Given the description of an element on the screen output the (x, y) to click on. 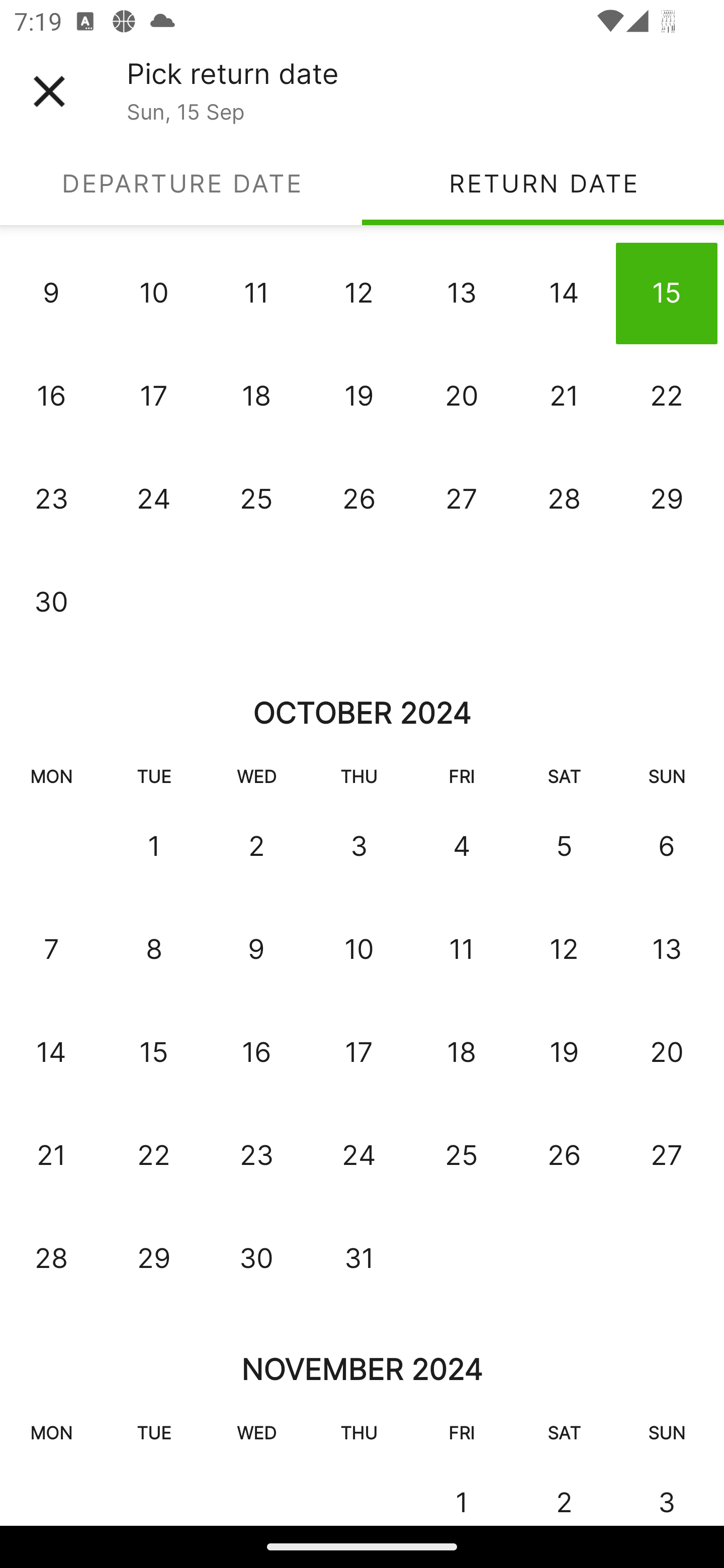
Departure Date DEPARTURE DATE (181, 183)
